Given the description of an element on the screen output the (x, y) to click on. 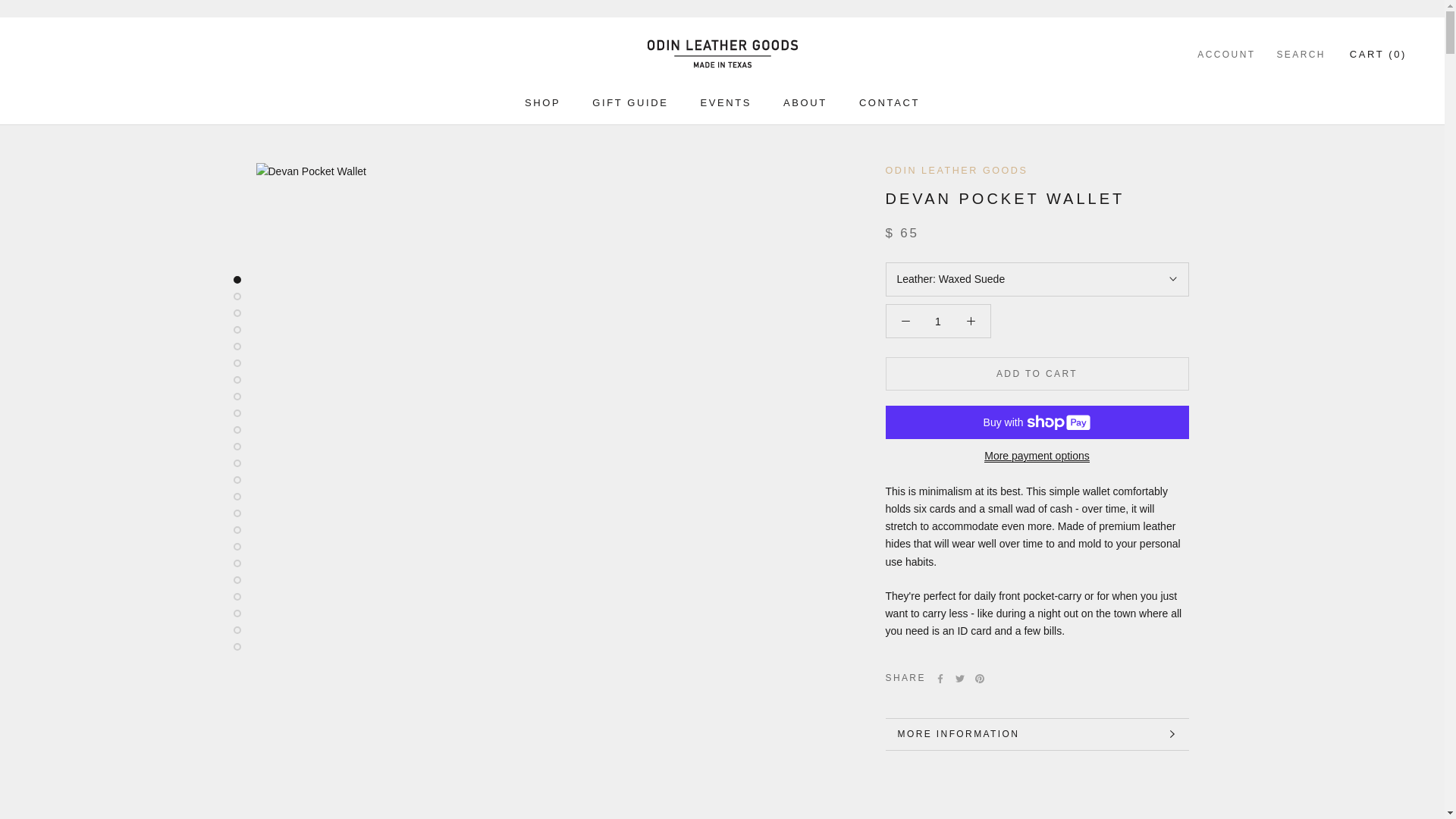
1 (938, 321)
SHOP (542, 102)
